Given the description of an element on the screen output the (x, y) to click on. 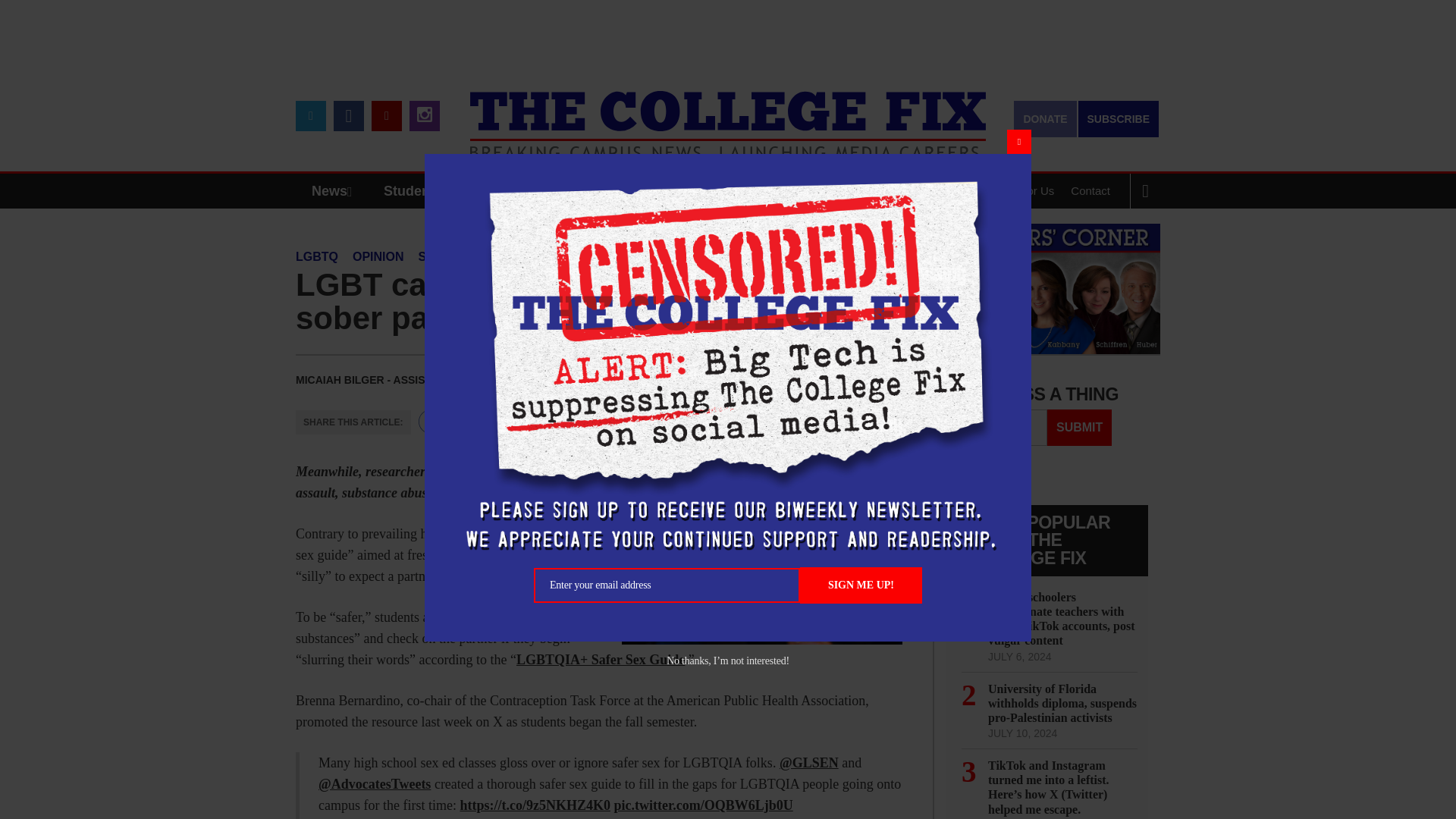
MERCHANDISE (577, 190)
The College Fix (727, 114)
SUBSCRIBE (1118, 118)
News (335, 190)
Student Reporters (443, 190)
Submit (1079, 427)
About The Fix (938, 190)
DONATE (1044, 118)
